Given the description of an element on the screen output the (x, y) to click on. 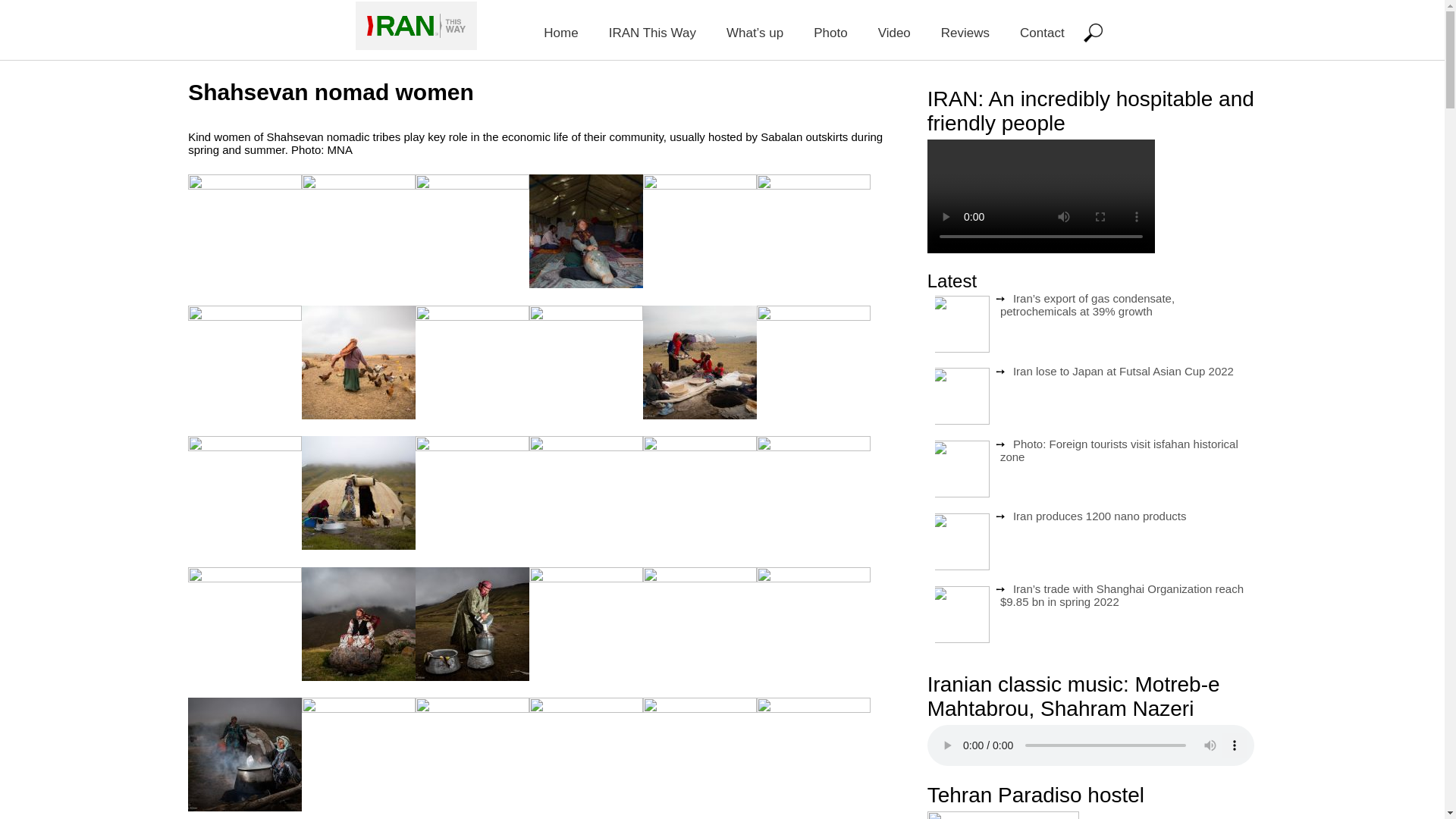
Shahsevan nomad women, north west of IRAN (586, 361)
Shahsevan nomad women, north west of IRAN (244, 361)
Shahsevan nomad women, north west of IRAN (357, 361)
Photo: Foreign tourists visit isfahan historical zone (1119, 449)
Iran produces 1200 nano products (1099, 515)
IRAN This Way (652, 30)
Shahsevan nomad women, north west of IRAN (244, 231)
Shahsevan nomad women, north west of IRAN (244, 492)
Shahsevan nomad women, north west of IRAN (357, 492)
Video (894, 30)
